Given the description of an element on the screen output the (x, y) to click on. 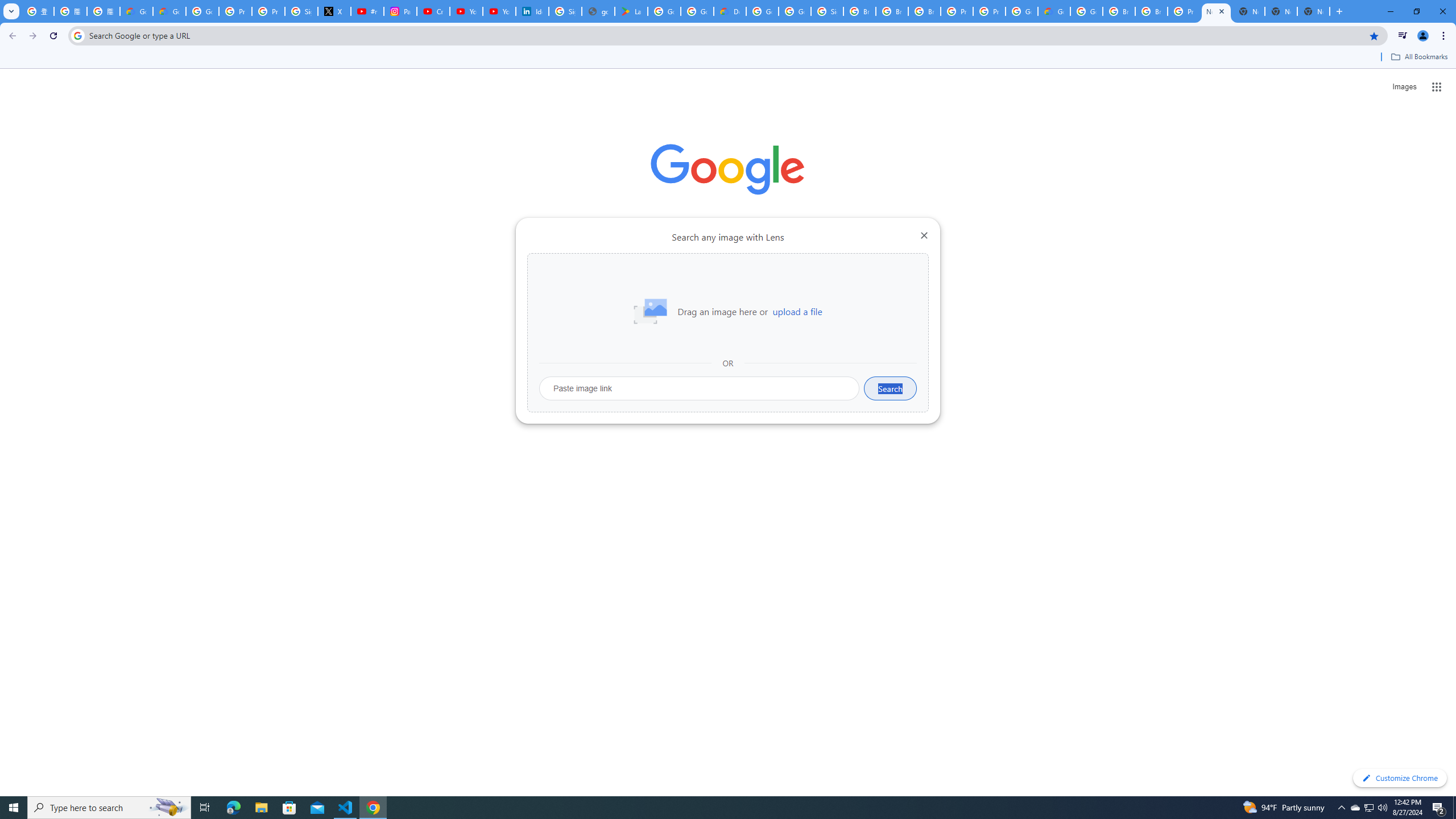
Google Cloud Platform (1021, 11)
Last Shelter: Survival - Apps on Google Play (631, 11)
Search icon (77, 35)
Privacy Help Center - Policies Help (268, 11)
YouTube Culture & Trends - YouTube Top 10, 2021 (499, 11)
Sign in - Google Accounts (827, 11)
